Given the description of an element on the screen output the (x, y) to click on. 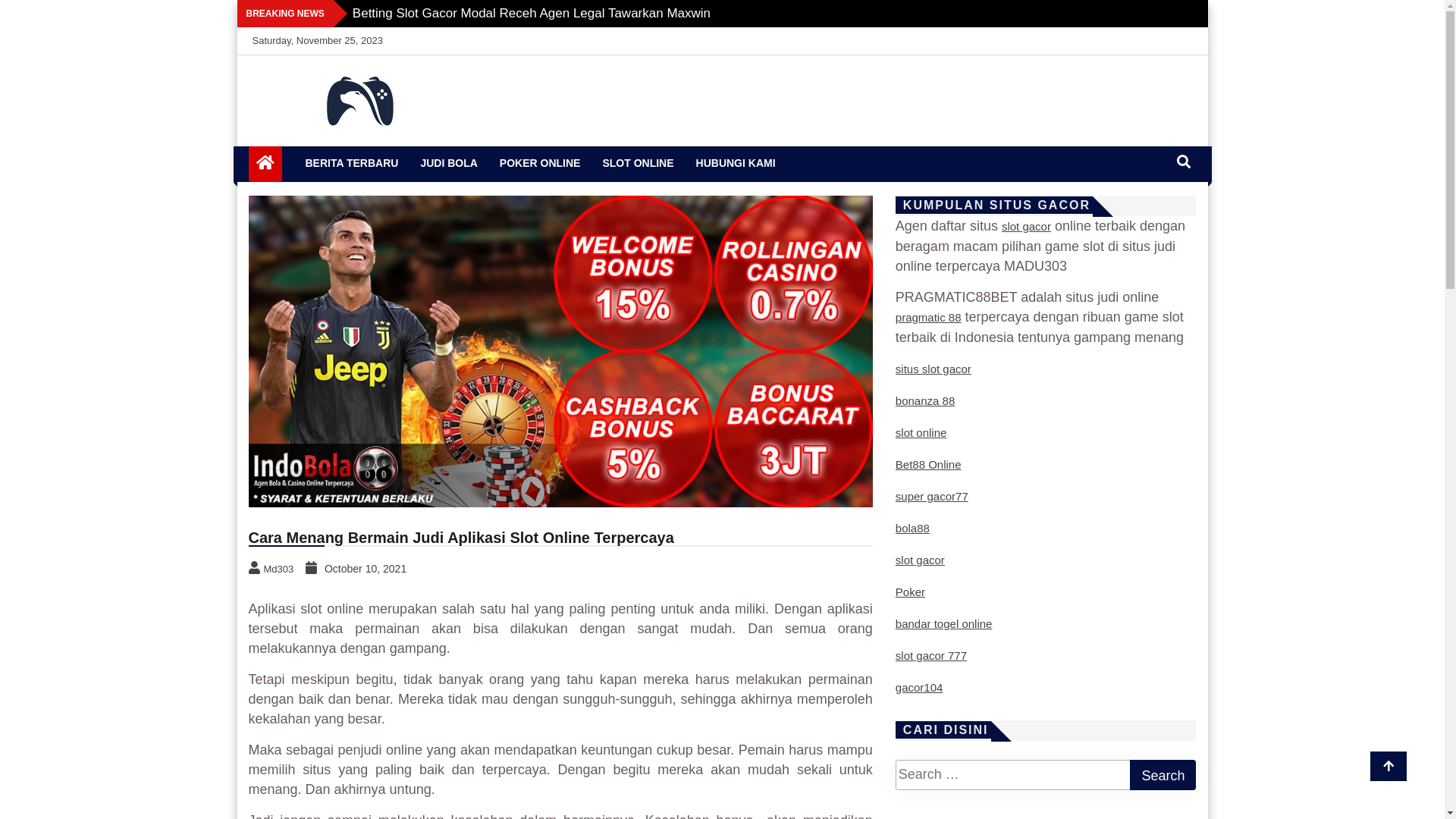
BERITA TERBARU Element type: text (351, 162)
SLOT ONLINE Element type: text (637, 162)
bandar togel online Element type: text (943, 623)
super gacor77 Element type: text (931, 495)
slot online Element type: text (921, 432)
slot gacor Element type: text (919, 559)
gacor104 Element type: text (919, 686)
Situs Judi Slot Online Element type: text (343, 156)
bonanza 88 Element type: text (924, 400)
Md303 Element type: text (272, 568)
bola88 Element type: text (912, 527)
situs slot gacor Element type: text (933, 368)
Poker Element type: text (910, 591)
POKER ONLINE Element type: text (540, 162)
Betting Slot Gacor Modal Receh Agen Legal Tawarkan Maxwin Element type: text (531, 13)
HUBUNGI KAMI Element type: text (735, 162)
slot gacor Element type: text (1026, 225)
JUDI BOLA Element type: text (448, 162)
October 10, 2021 Element type: text (357, 568)
Search Element type: text (1162, 774)
Bet88 Online Element type: text (928, 464)
pragmatic 88 Element type: text (928, 316)
slot gacor 777 Element type: text (930, 655)
